Given the description of an element on the screen output the (x, y) to click on. 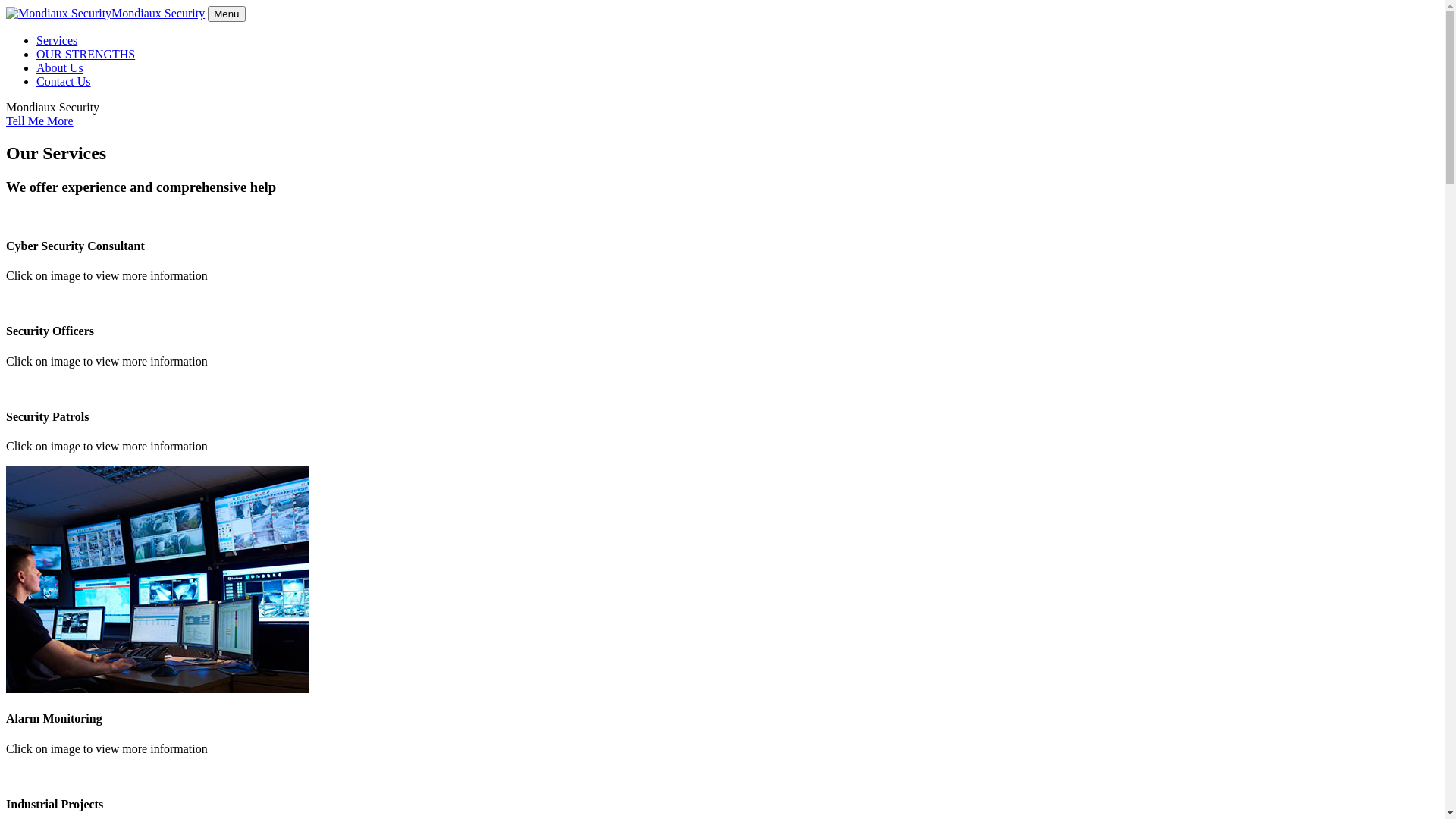
Contact Us Element type: text (63, 81)
OUR STRENGTHS Element type: text (85, 53)
Services Element type: text (56, 40)
Mondiaux Security Element type: text (105, 12)
Tell Me More Element type: text (39, 120)
About Us Element type: text (59, 67)
Menu Element type: text (225, 13)
